Given the description of an element on the screen output the (x, y) to click on. 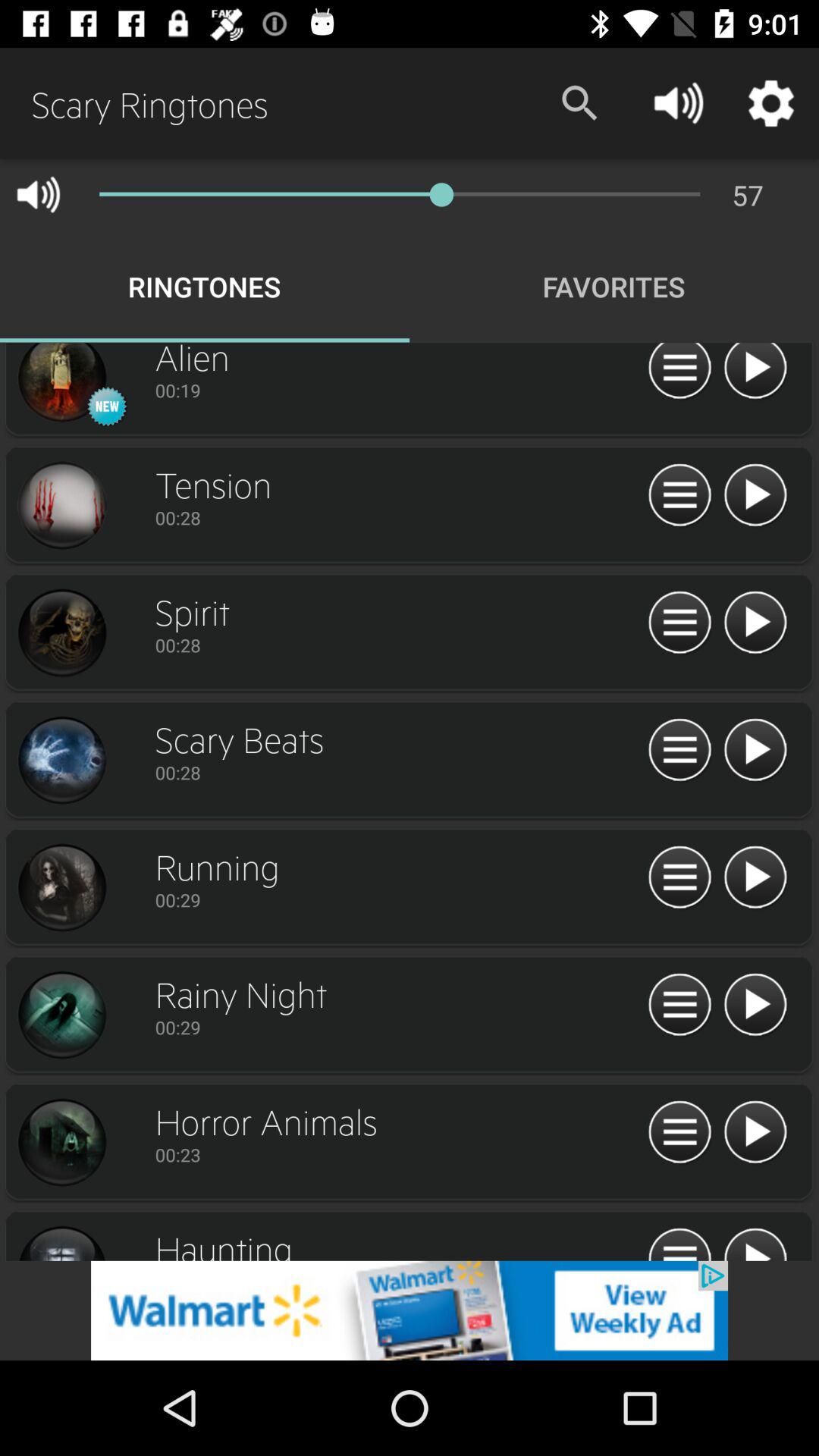
select artist (61, 633)
